Given the description of an element on the screen output the (x, y) to click on. 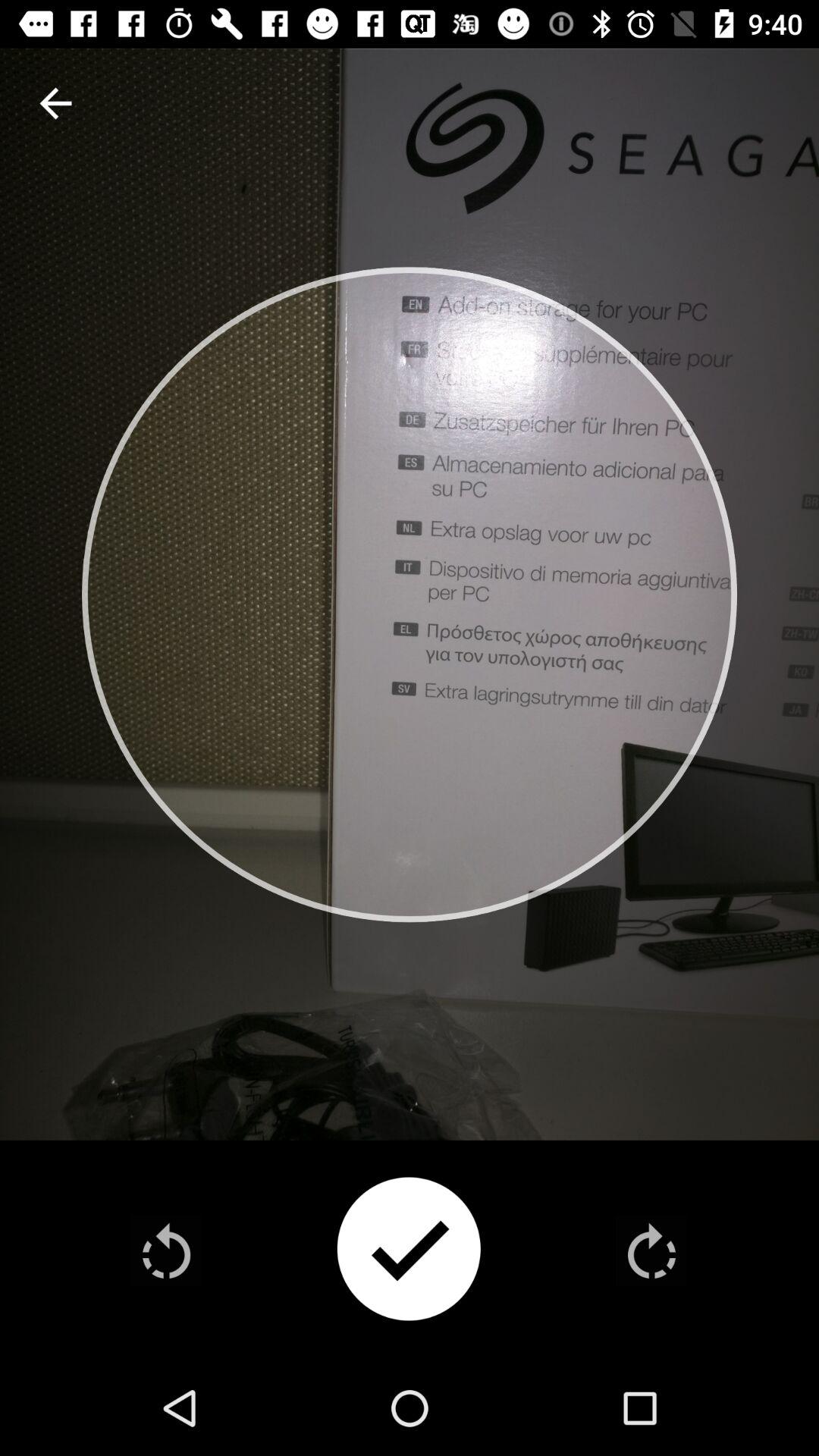
go back (166, 1250)
